Given the description of an element on the screen output the (x, y) to click on. 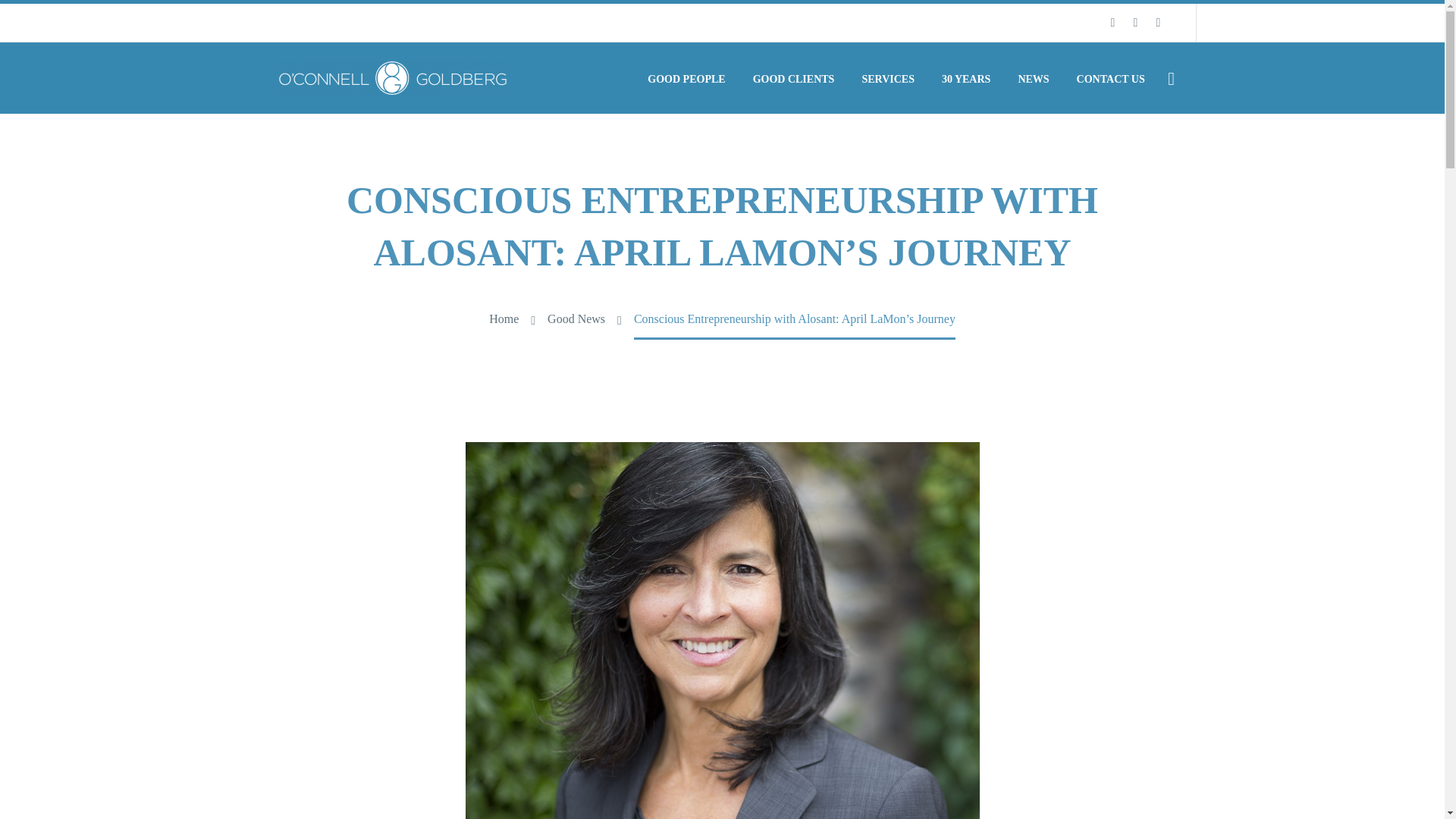
SERVICES (888, 78)
Facebook (1112, 22)
CONTACT US (1110, 78)
GOOD CLIENTS (793, 78)
30 YEARS (965, 78)
Home (503, 318)
GOOD PEOPLE (686, 78)
Instagram (1158, 22)
NEWS (1032, 78)
Good News (576, 318)
